Given the description of an element on the screen output the (x, y) to click on. 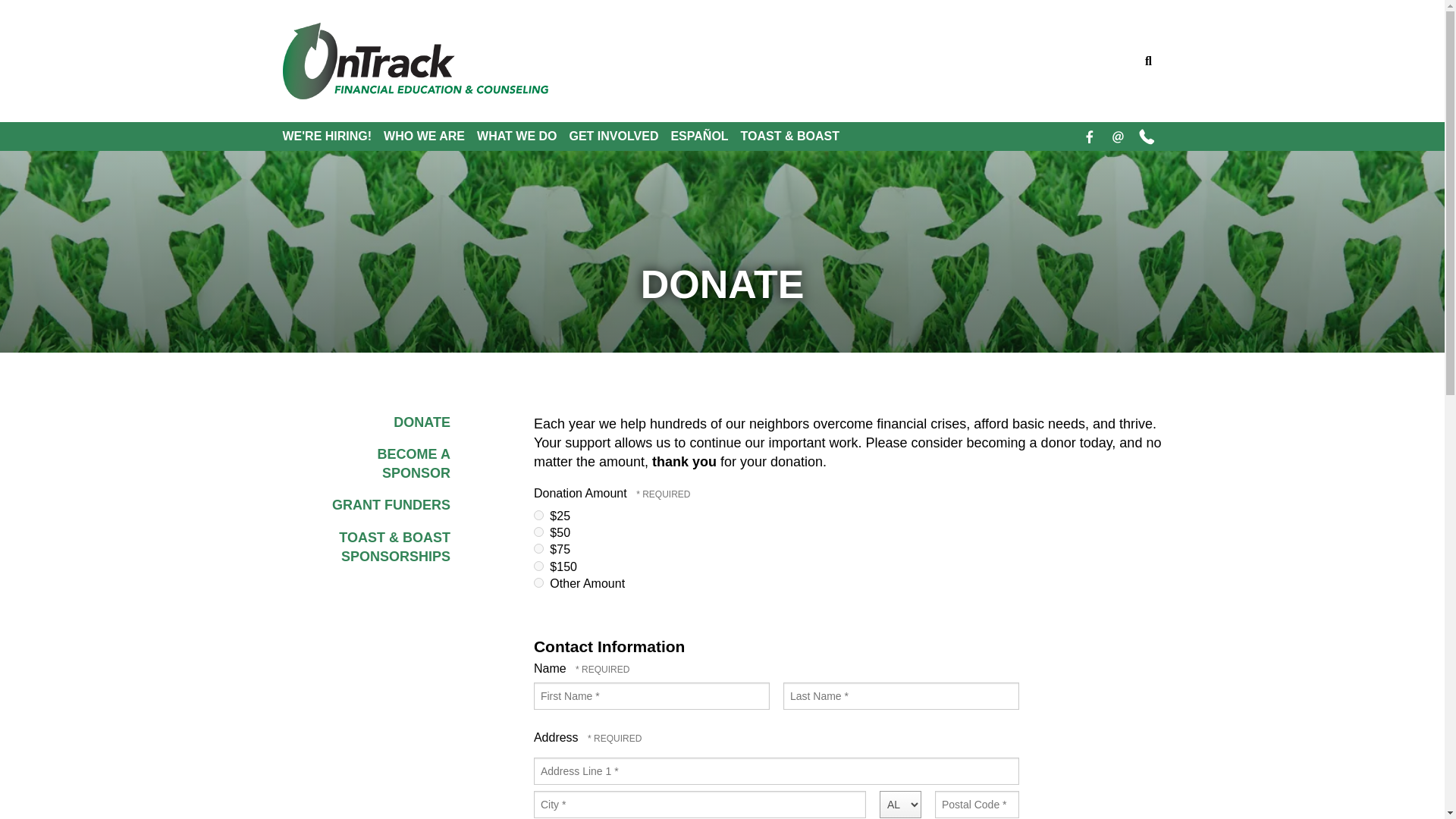
150 (538, 565)
75 (538, 548)
25 (538, 515)
50 (538, 532)
WE'RE HIRING! (333, 136)
logo (414, 60)
